Given the description of an element on the screen output the (x, y) to click on. 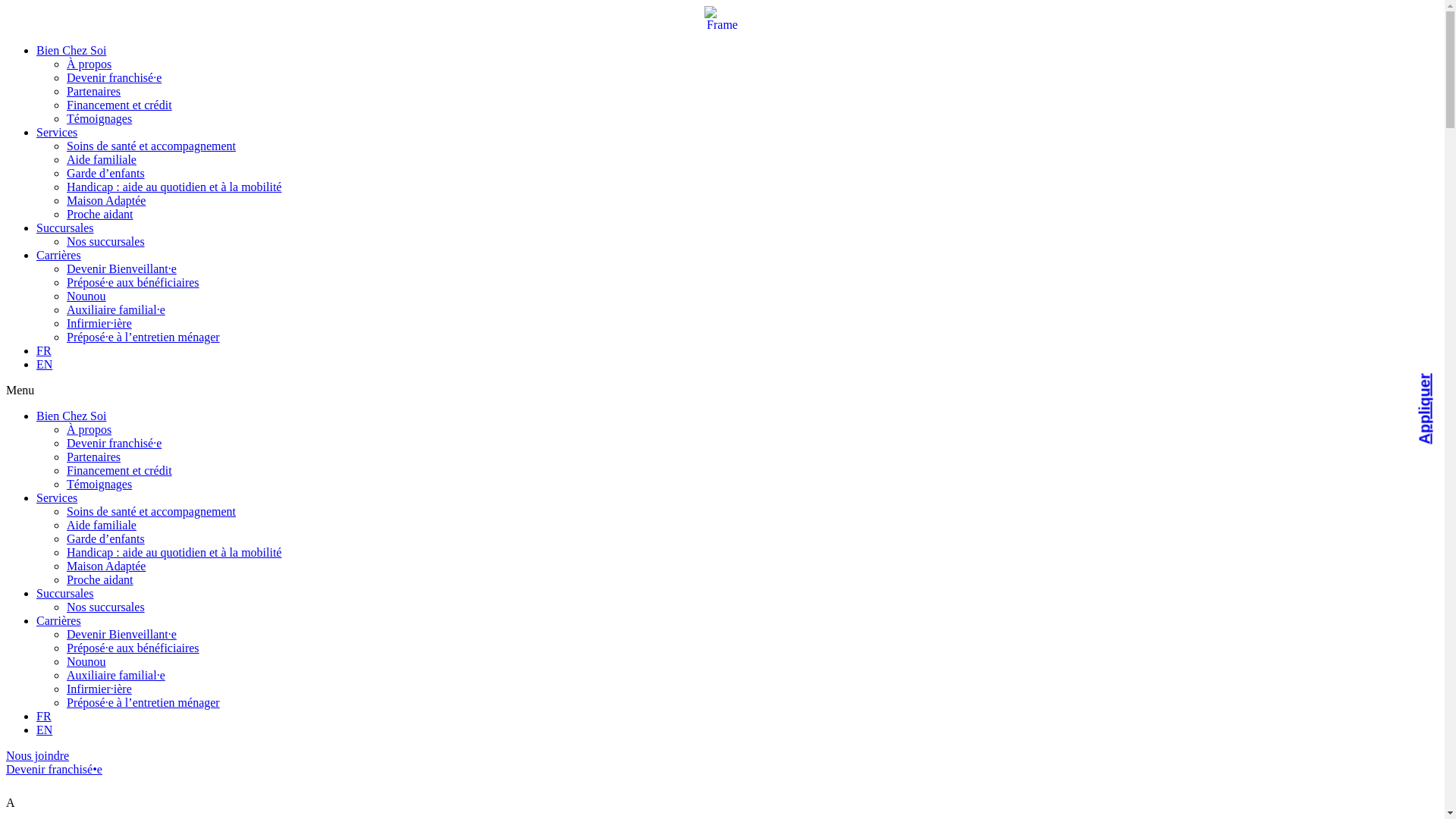
Aide familiale Element type: text (101, 524)
Services Element type: text (56, 497)
FR Element type: text (43, 350)
Frame Element type: hover (721, 18)
Partenaires Element type: text (93, 90)
Aide familiale Element type: text (101, 159)
Proche aidant Element type: text (99, 213)
Nous joindre Element type: text (37, 755)
Nos succursales Element type: text (105, 241)
Services Element type: text (56, 131)
Succursales Element type: text (65, 227)
Succursales Element type: text (65, 592)
EN Element type: text (44, 363)
FR Element type: text (43, 715)
Nos succursales Element type: text (105, 606)
Nounou Element type: text (86, 295)
Partenaires Element type: text (93, 456)
Bien Chez Soi Element type: text (71, 49)
EN Element type: text (44, 729)
Bien Chez Soi Element type: text (71, 415)
Nounou Element type: text (86, 661)
Proche aidant Element type: text (99, 579)
